Given the description of an element on the screen output the (x, y) to click on. 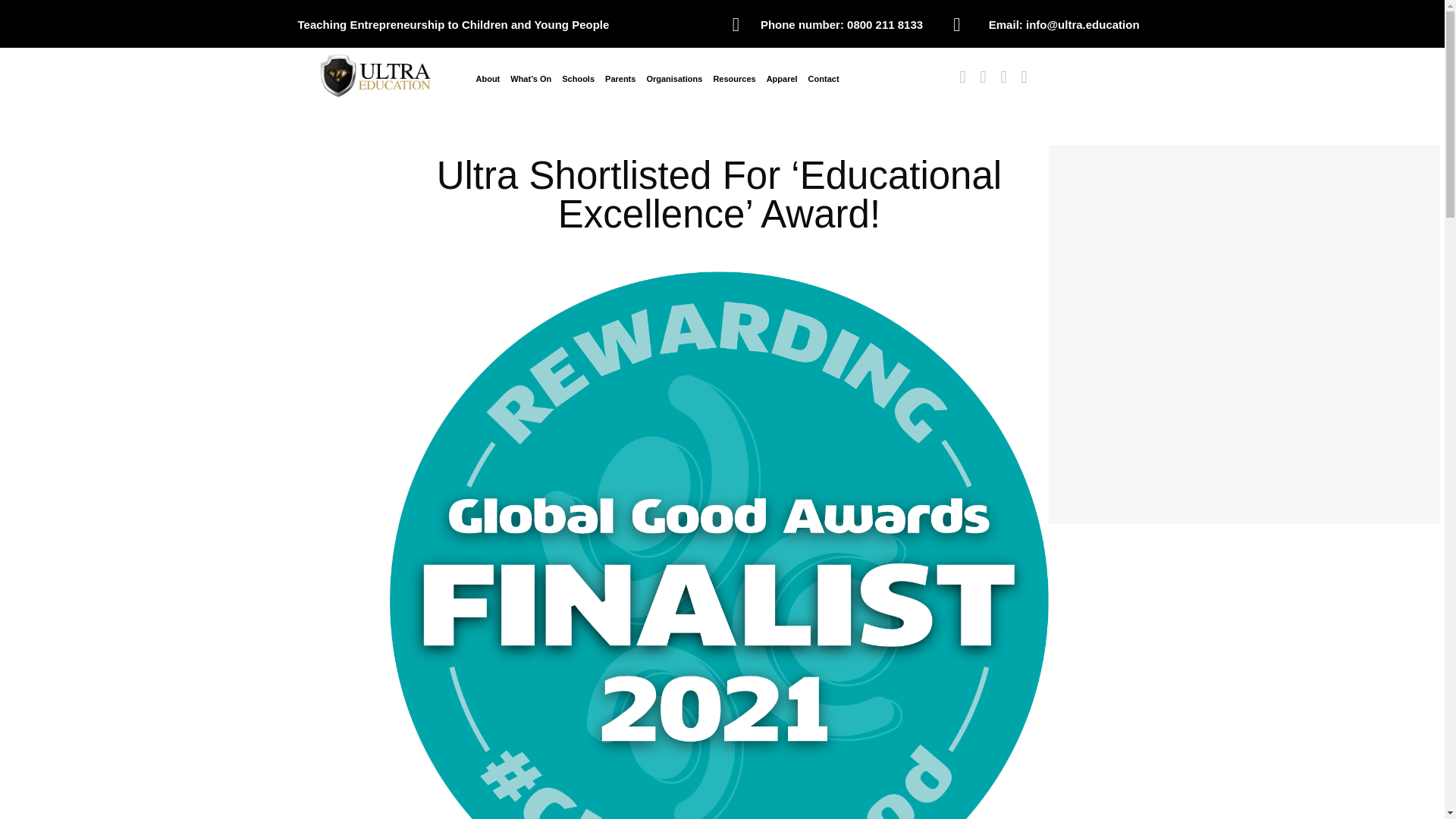
Phone number: 0800 211 8133 (841, 24)
Organisations (673, 78)
Contact (823, 78)
Parents (619, 78)
Resources (733, 78)
About (487, 78)
Apparel (782, 78)
Schools (577, 78)
